Given the description of an element on the screen output the (x, y) to click on. 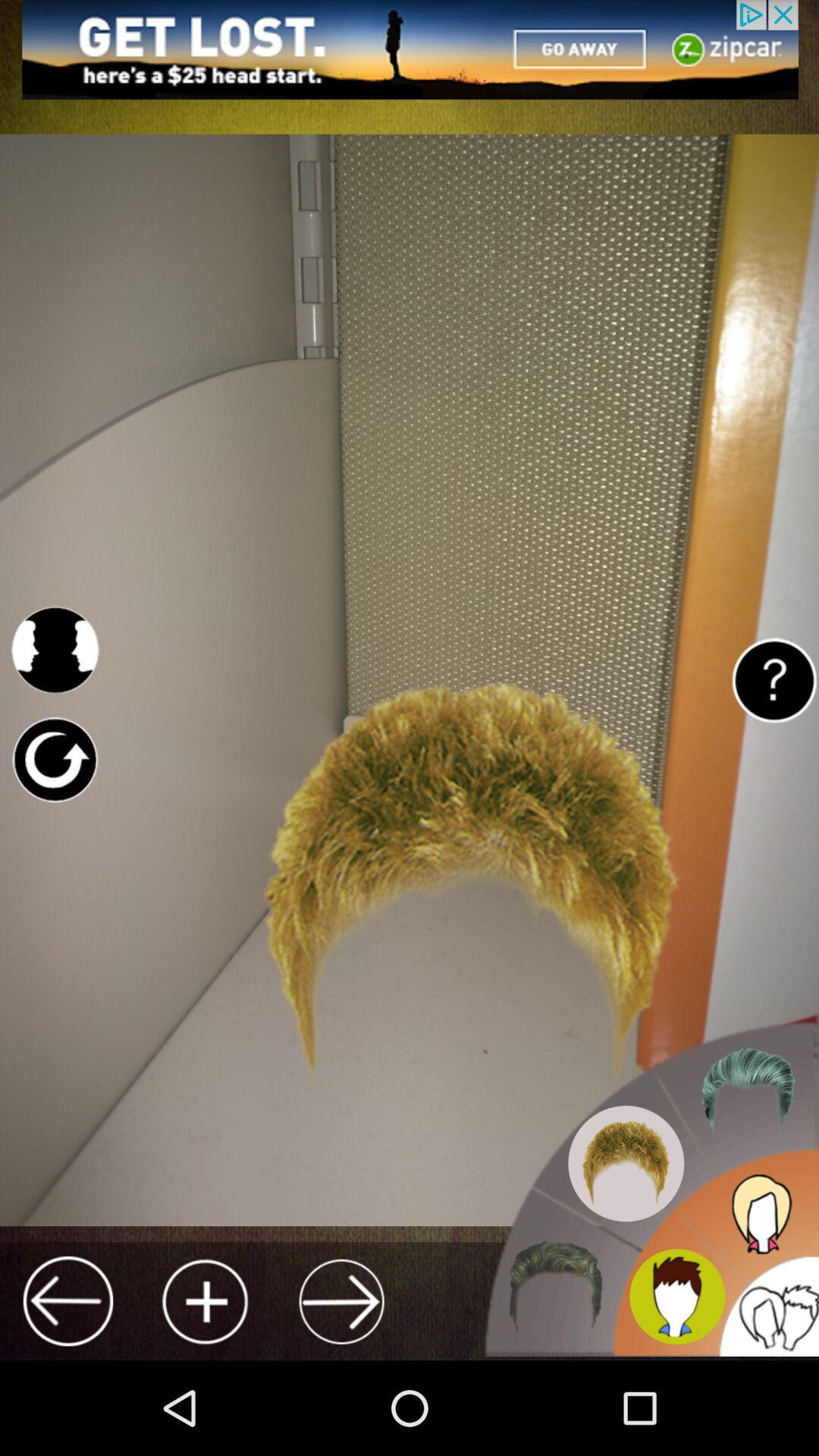
go back (68, 1301)
